Given the description of an element on the screen output the (x, y) to click on. 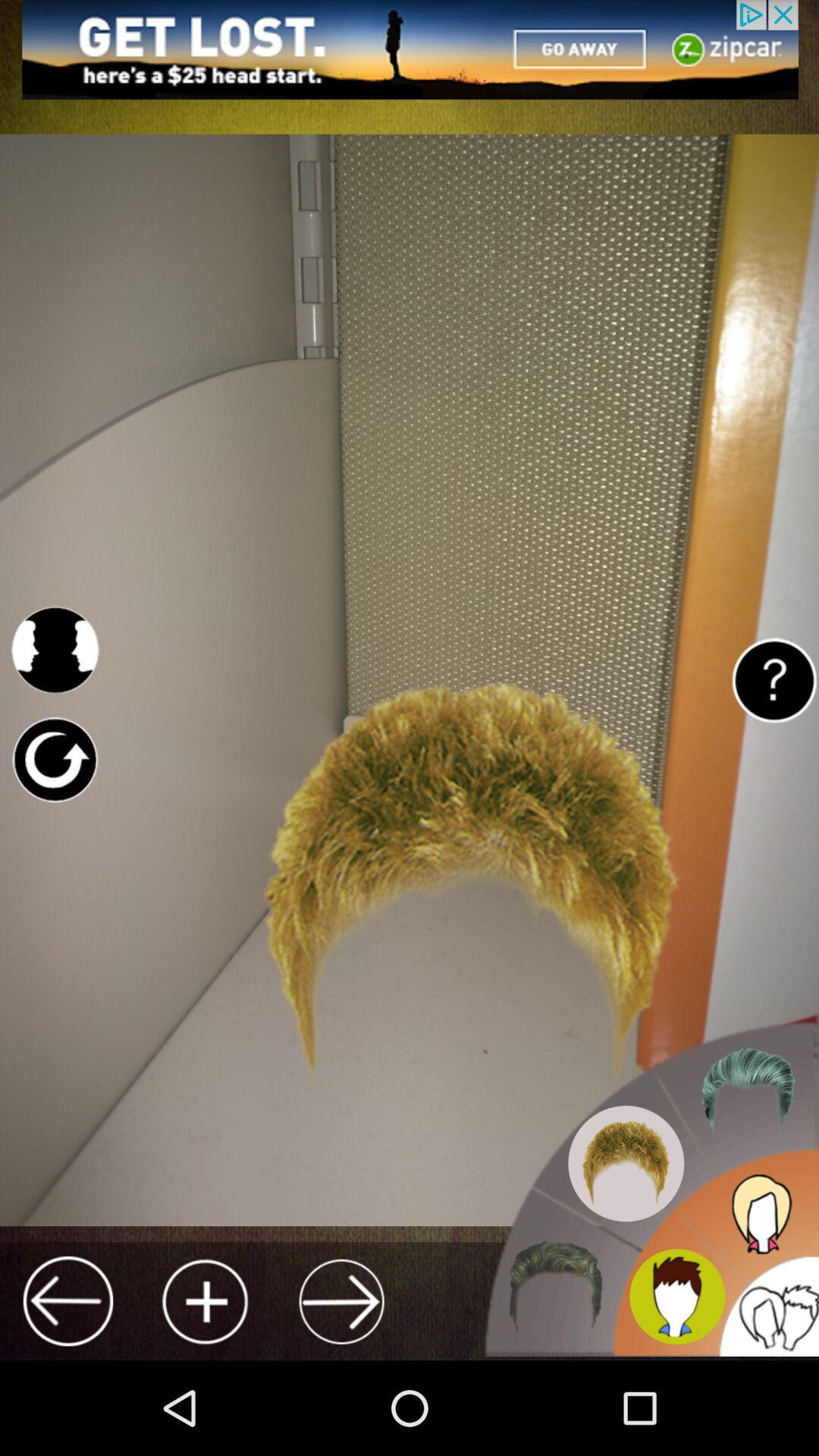
go back (68, 1301)
